Given the description of an element on the screen output the (x, y) to click on. 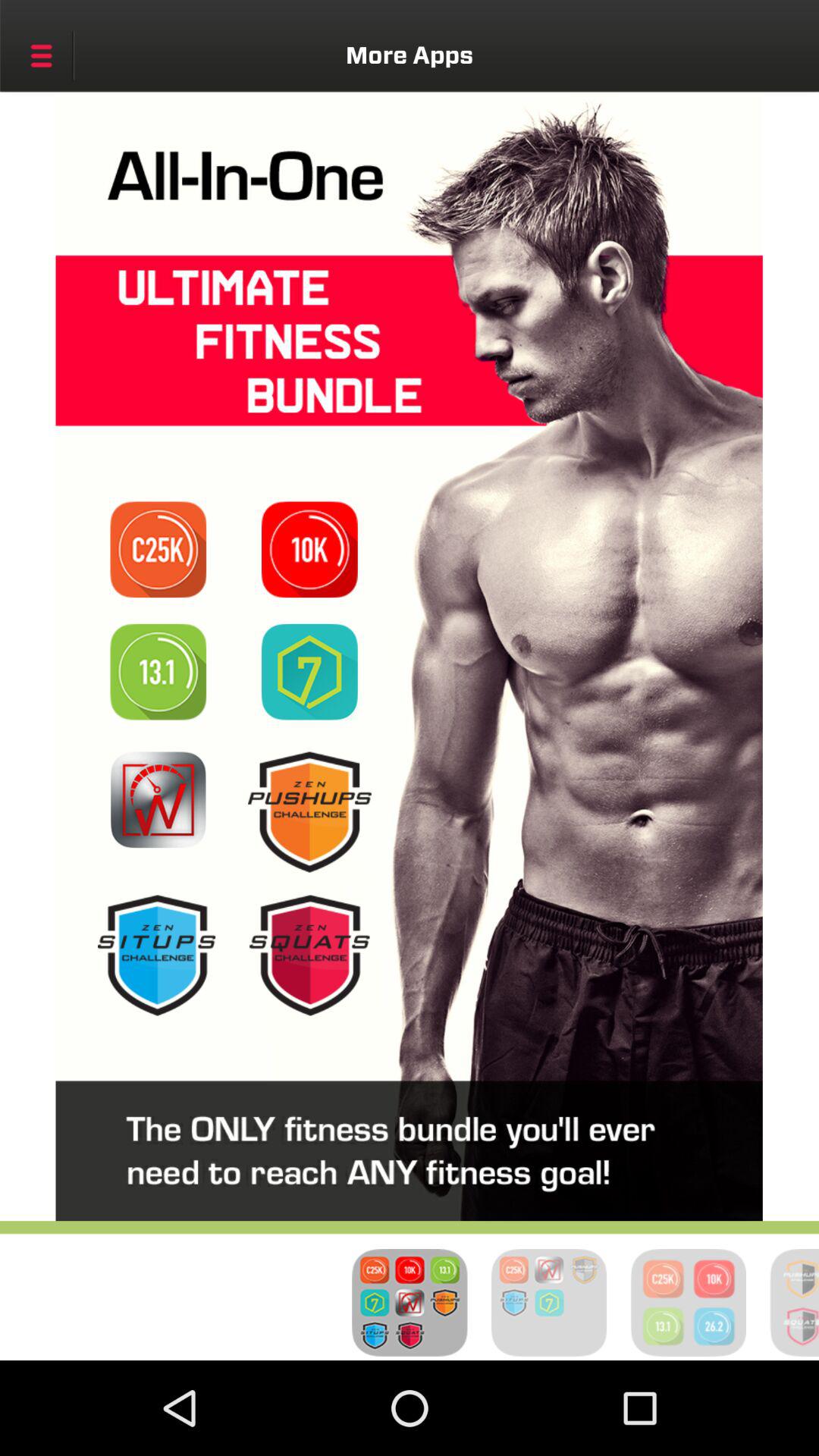
click the pushups batch icon (309, 811)
